Given the description of an element on the screen output the (x, y) to click on. 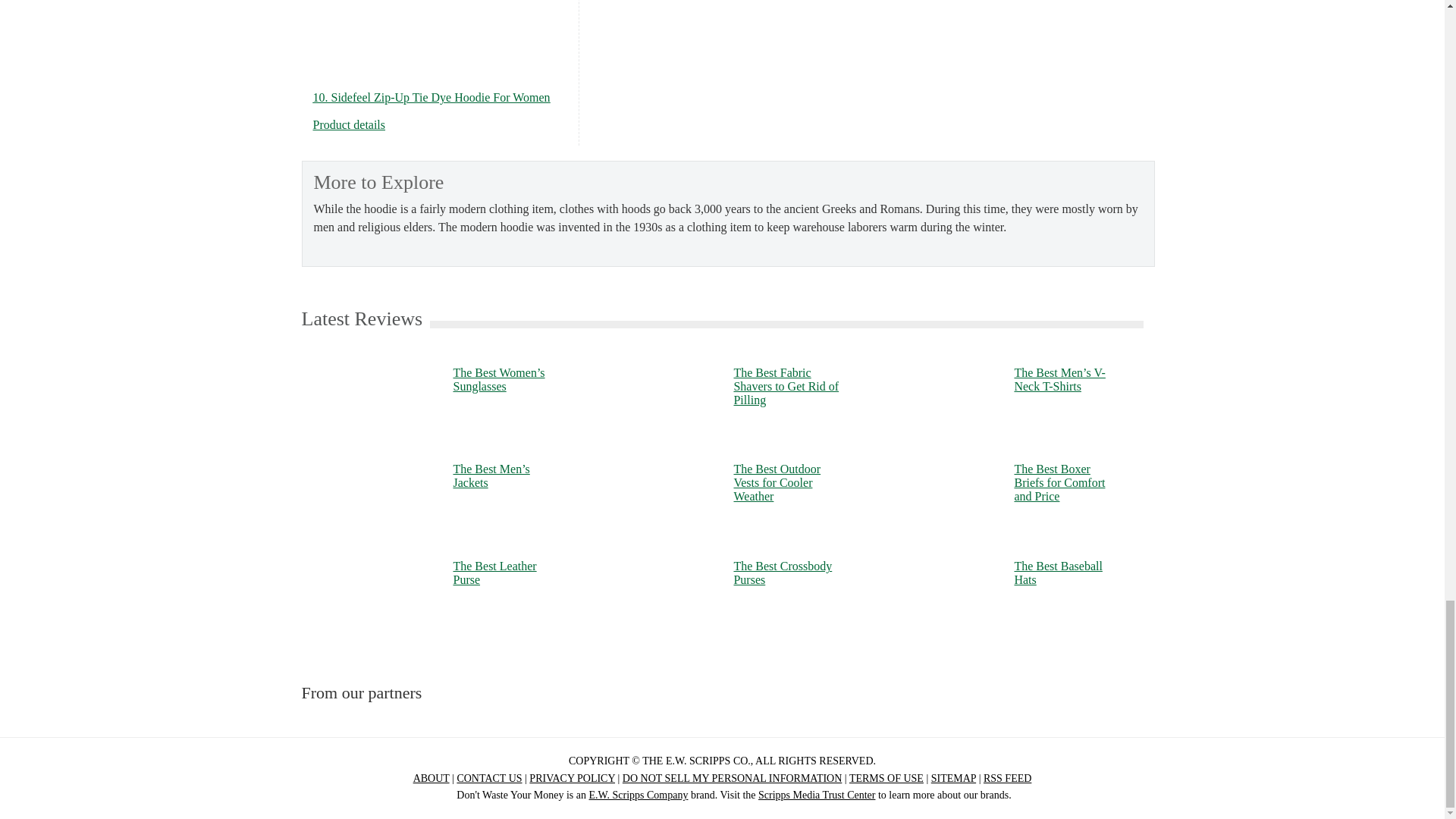
Sidefeel Zip-Up Tie Dye Hoodie For Women (349, 124)
